Given the description of an element on the screen output the (x, y) to click on. 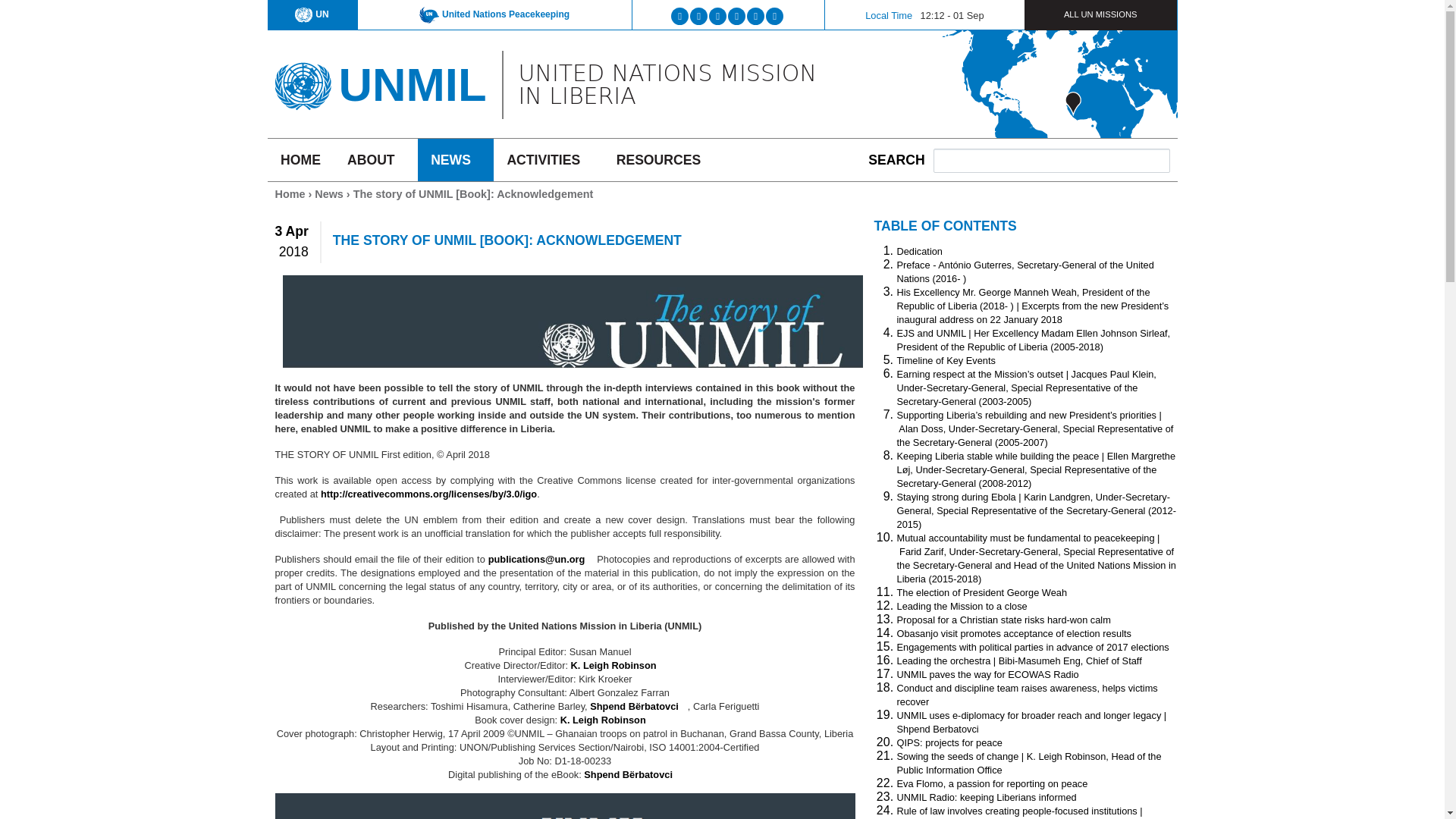
United Nations Peacekeeping (494, 14)
UN (312, 14)
ALL UN MISSIONS (1100, 13)
The story of UNMIL - Back cover of the book (564, 806)
Home (411, 84)
Home (301, 80)
UNMIL (411, 84)
HOME (299, 159)
Enter the terms you wish to search for. (1051, 160)
